Given the description of an element on the screen output the (x, y) to click on. 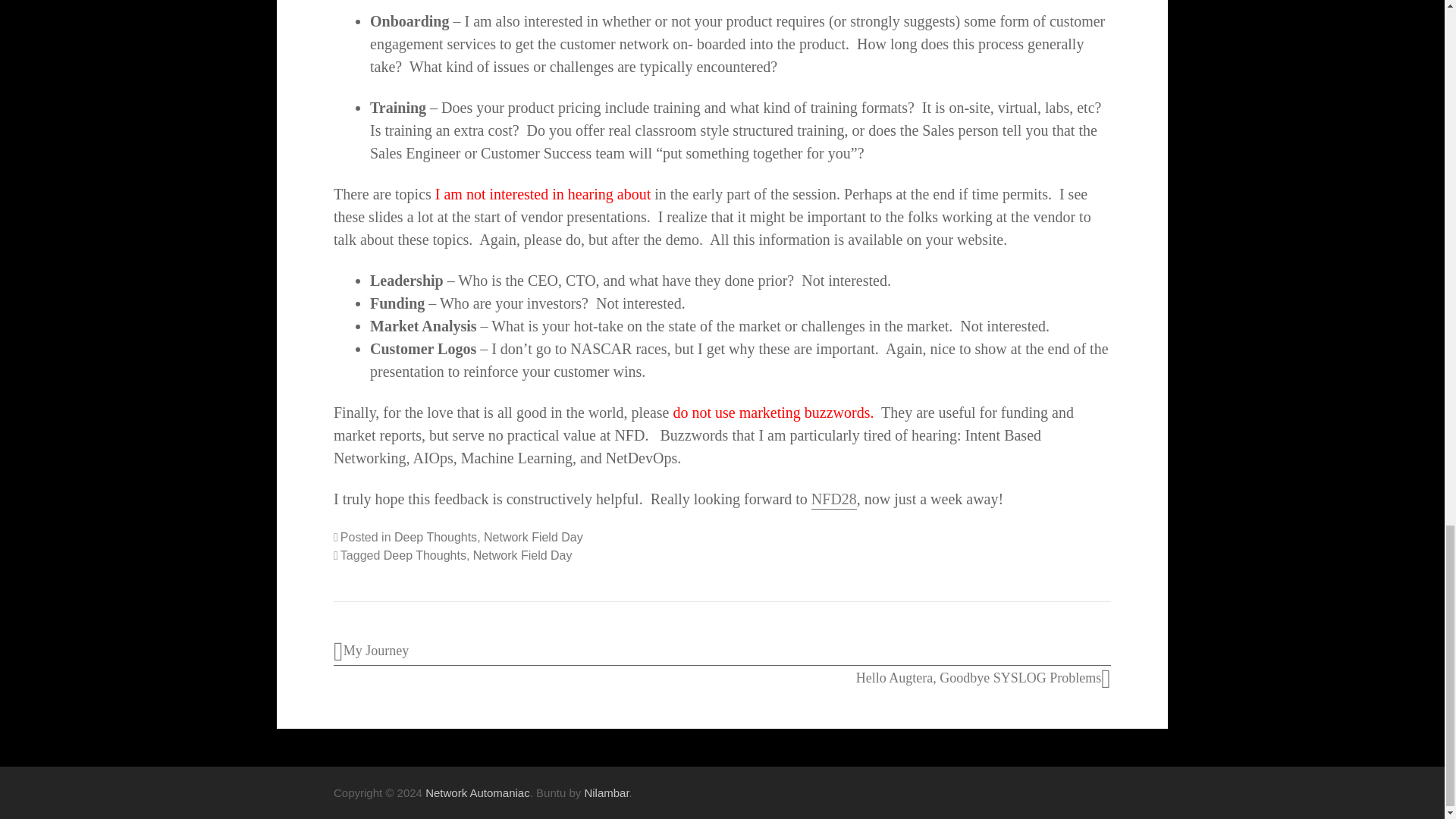
Deep Thoughts (424, 554)
Network Field Day (533, 536)
Deep Thoughts (435, 536)
NFD28 (833, 499)
My Journey (371, 650)
Hello Augtera, Goodbye SYSLOG Problems (983, 677)
Network Automaniac (477, 792)
Network Field Day (522, 554)
Nilambar (605, 792)
